Given the description of an element on the screen output the (x, y) to click on. 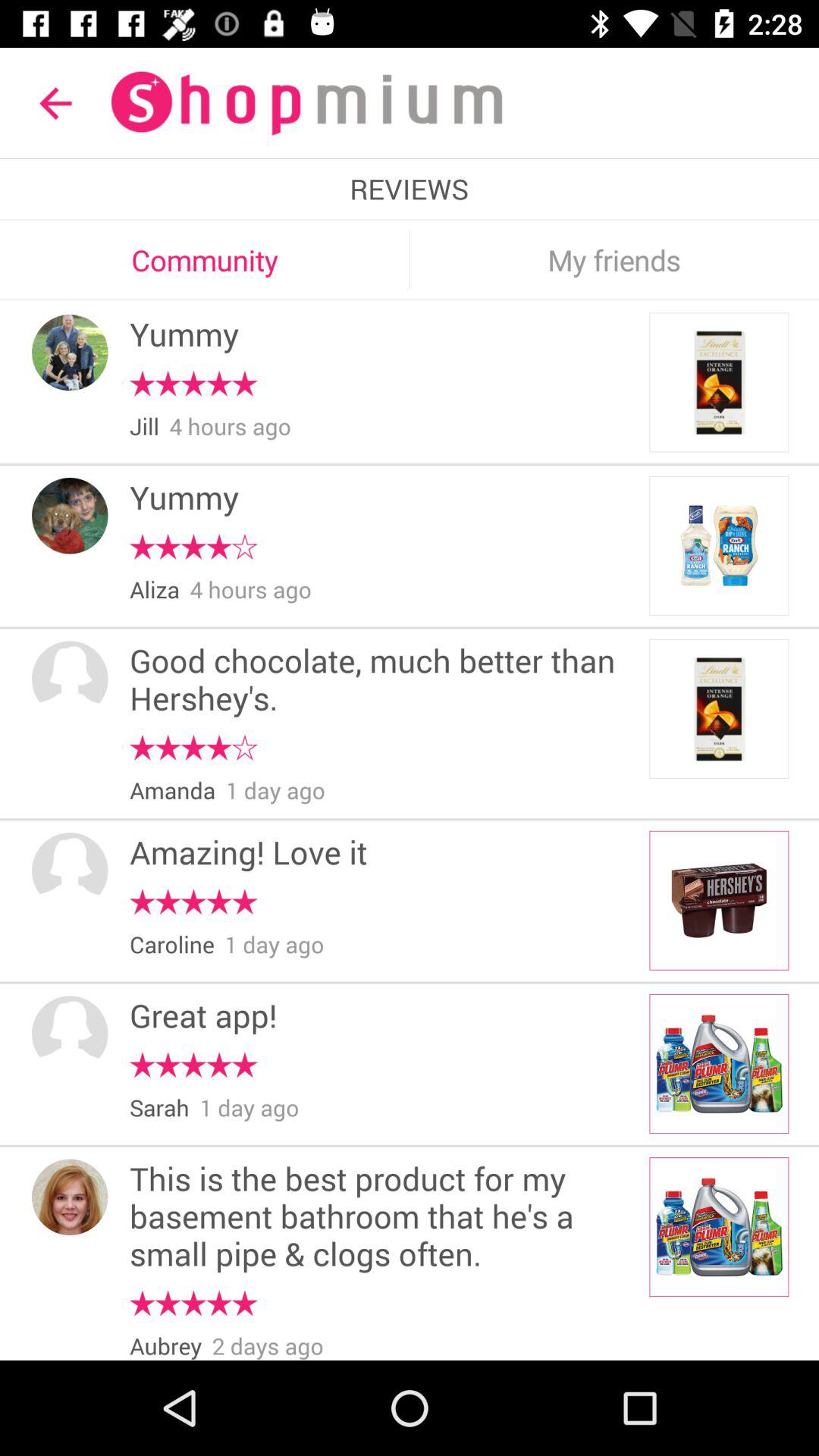
turn on item below the great app! item (193, 1064)
